Given the description of an element on the screen output the (x, y) to click on. 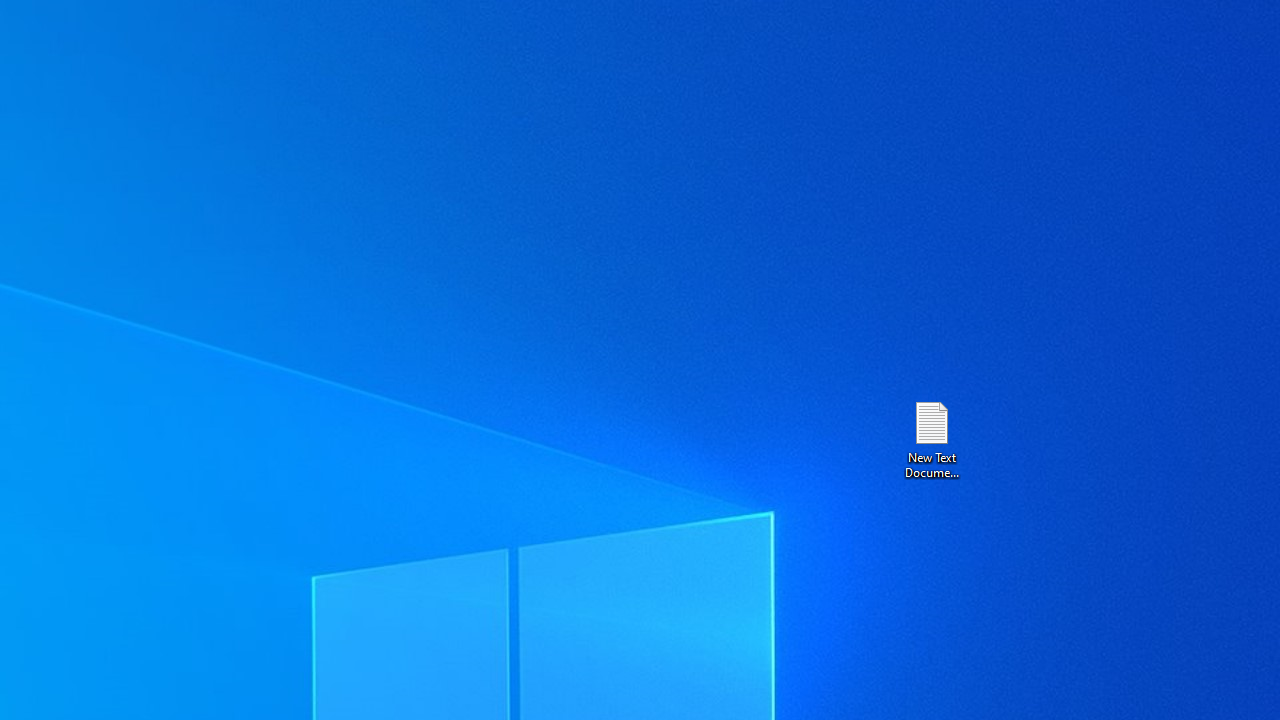
New Text Document (2) (931, 438)
